Given the description of an element on the screen output the (x, y) to click on. 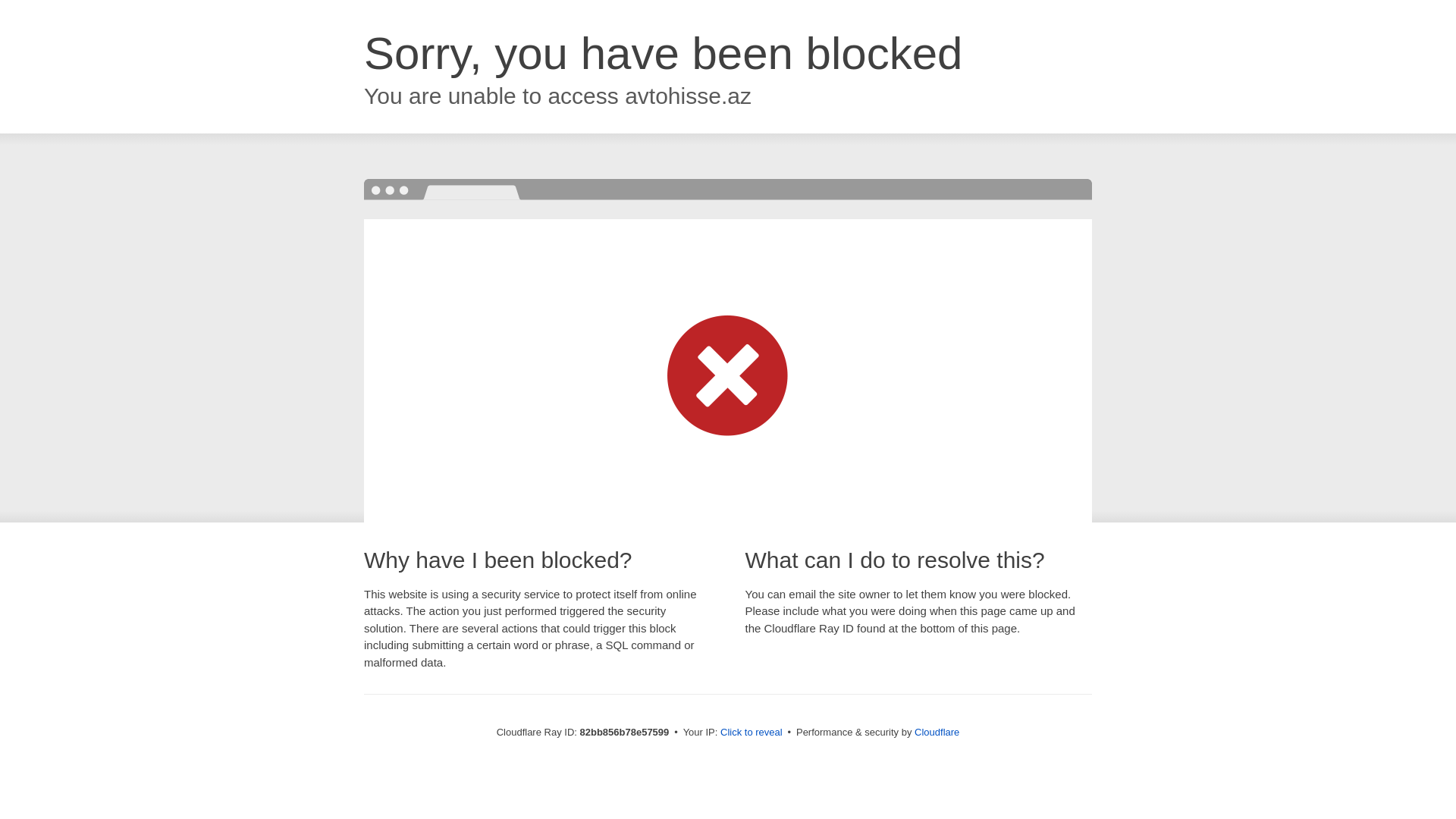
Click to reveal Element type: text (751, 732)
Cloudflare Element type: text (936, 731)
